Given the description of an element on the screen output the (x, y) to click on. 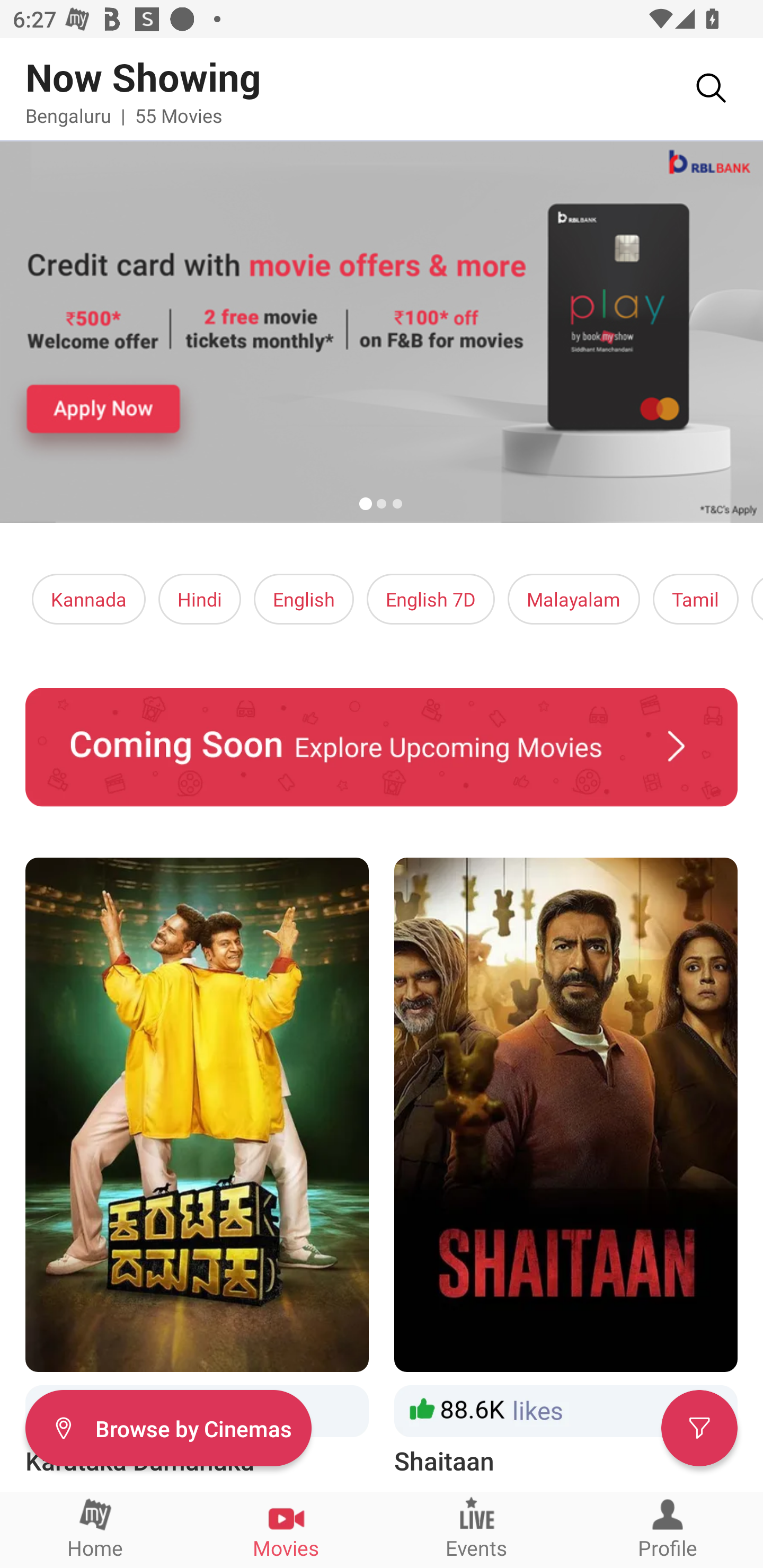
Bengaluru  |  55 Movies (123, 114)
Kannada (88, 598)
Hindi (199, 598)
English (304, 598)
English 7D (431, 598)
Malayalam (573, 598)
Tamil (695, 598)
Karataka Damanaka (196, 1167)
Shaitaan (565, 1167)
Filter Browse by Cinemas (168, 1427)
Filter (699, 1427)
Home (95, 1529)
Movies (285, 1529)
Events (476, 1529)
Profile (667, 1529)
